Given the description of an element on the screen output the (x, y) to click on. 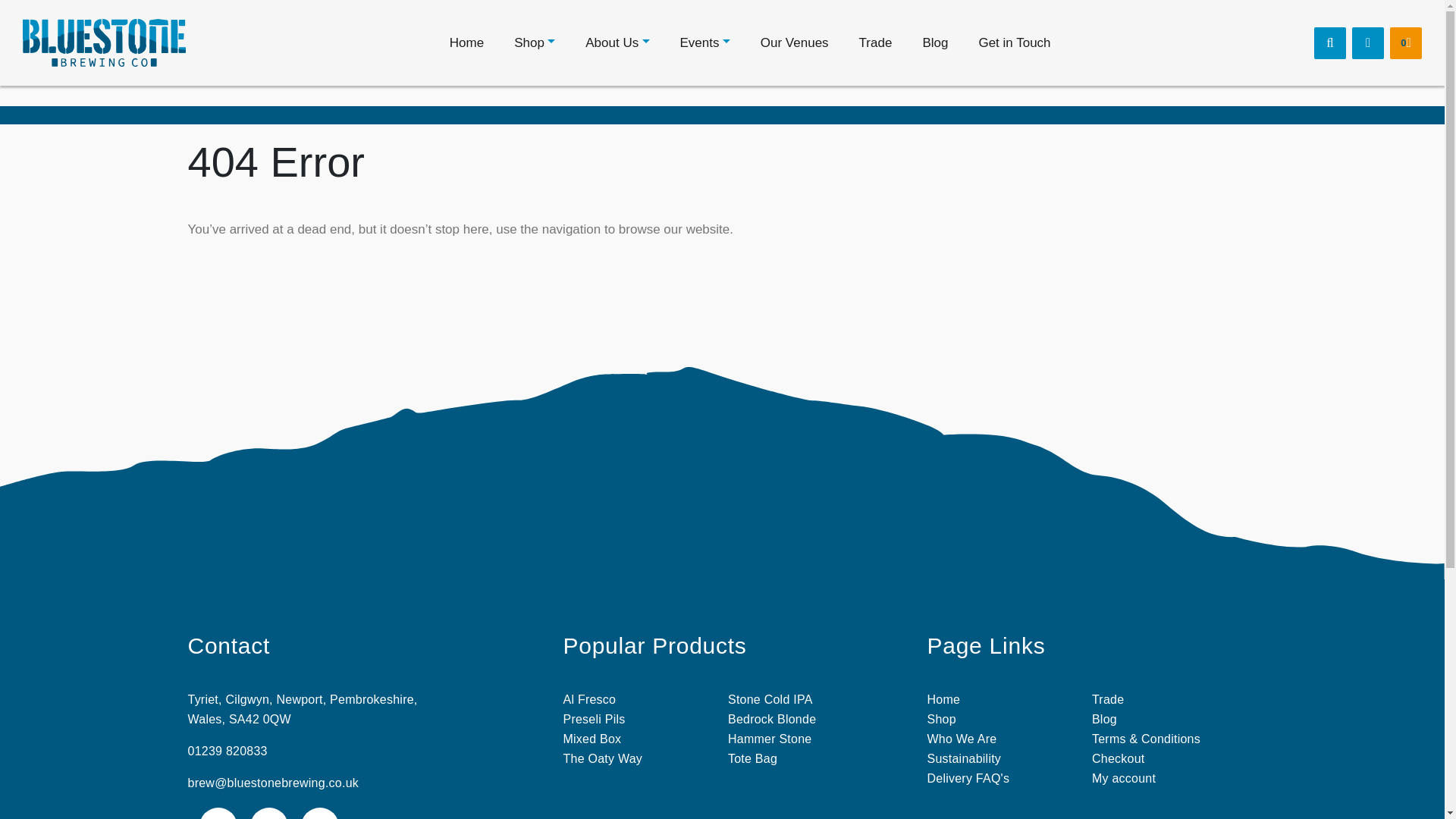
Our Venues (794, 43)
Stone Cold IPA (770, 698)
About Us (617, 43)
Hammer Stone (769, 738)
Get in Touch (1014, 43)
0 (1406, 42)
Preseli Pils (593, 718)
Get in Touch (1014, 43)
01239 820833 (227, 750)
View your shopping cart (1406, 42)
